Given the description of an element on the screen output the (x, y) to click on. 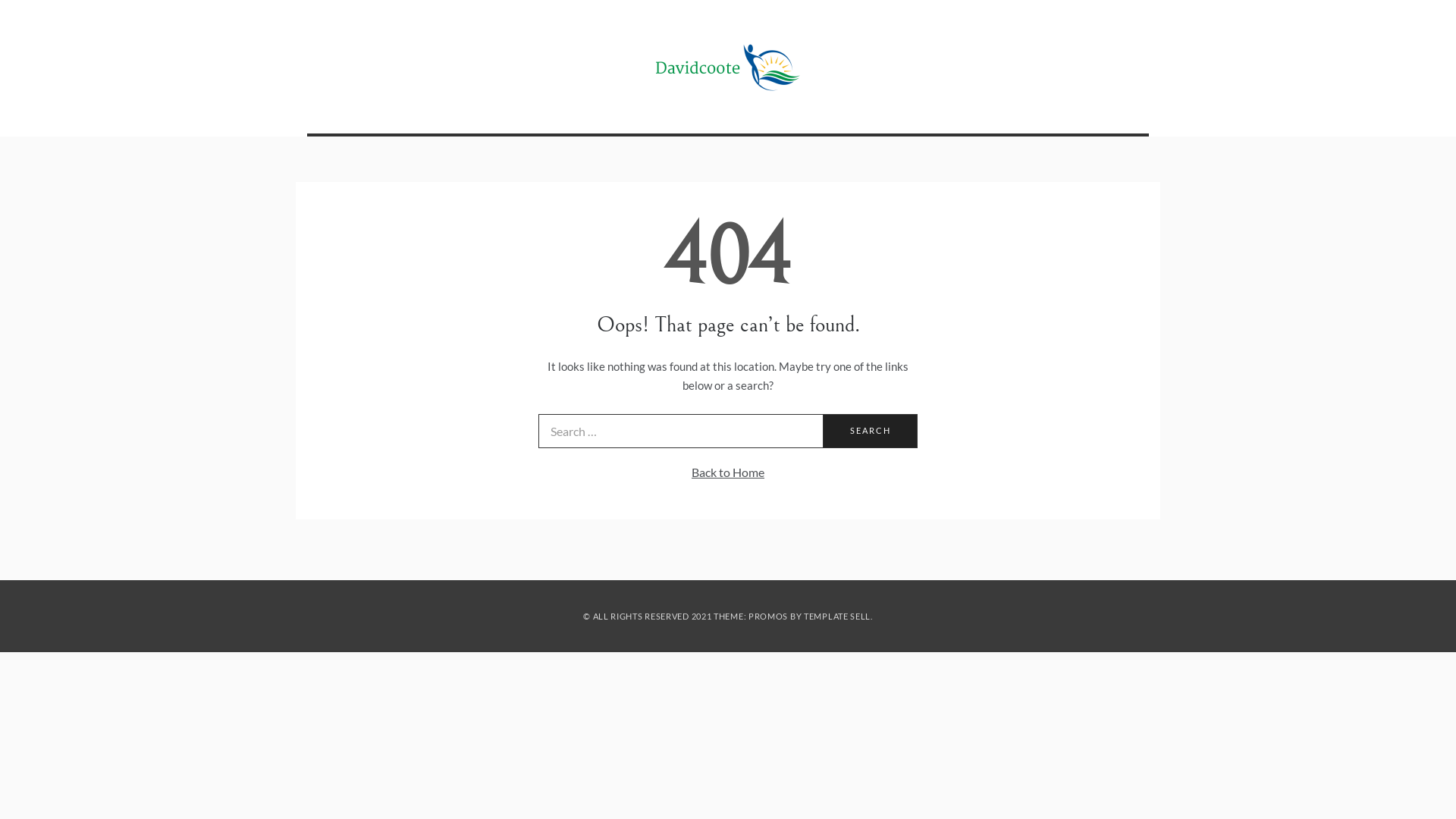
Back to Home Element type: text (727, 471)
TEMPLATE SELL Element type: text (836, 616)
Search Element type: text (869, 431)
